Given the description of an element on the screen output the (x, y) to click on. 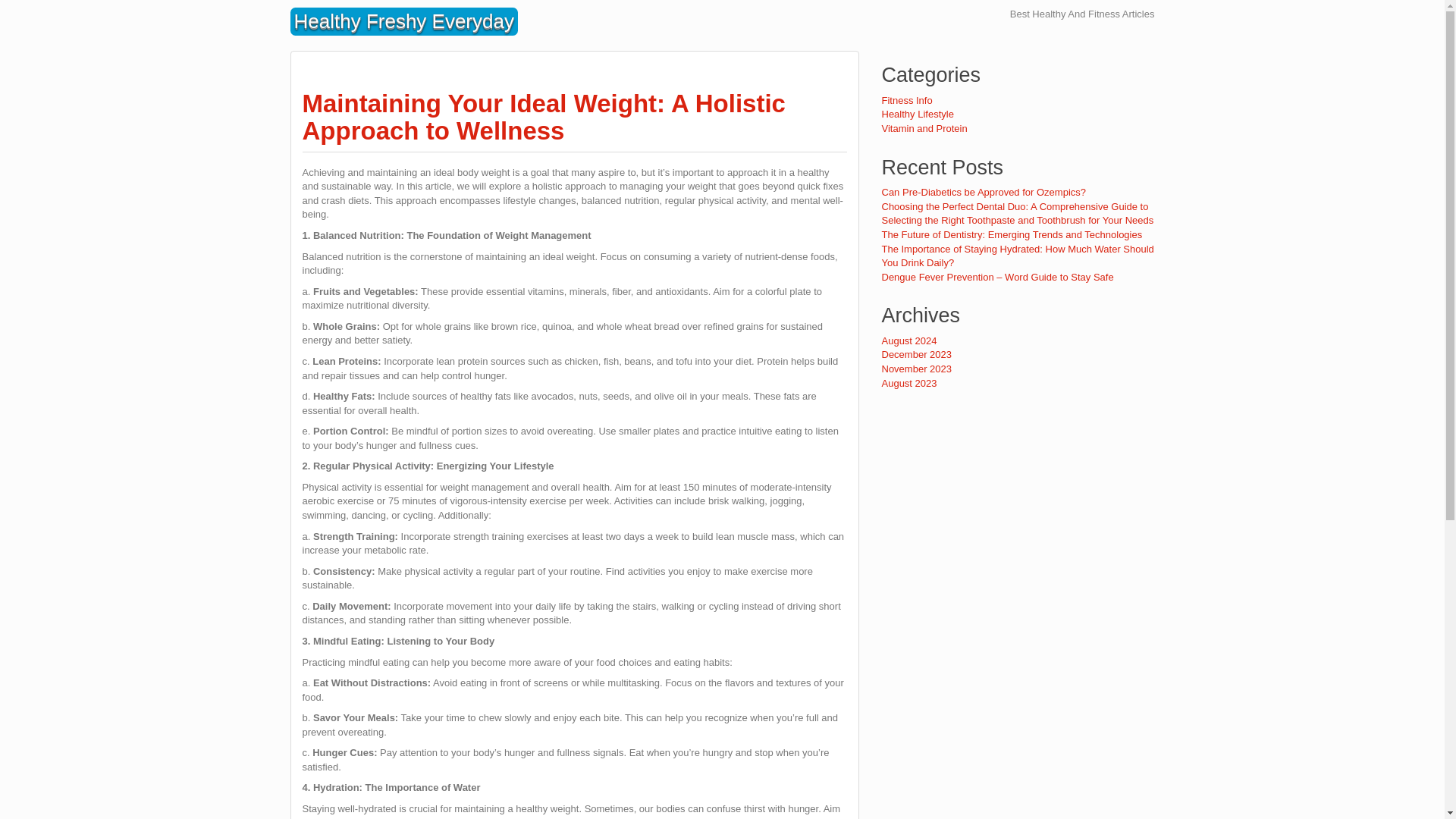
Can Pre-Diabetics be Approved for Ozempics? (983, 192)
August 2023 (908, 383)
November 2023 (916, 368)
Vitamin and Protein (923, 128)
Fitness Info (905, 100)
Healthy Lifestyle (916, 113)
The Future of Dentistry: Emerging Trends and Technologies (1010, 234)
